Given the description of an element on the screen output the (x, y) to click on. 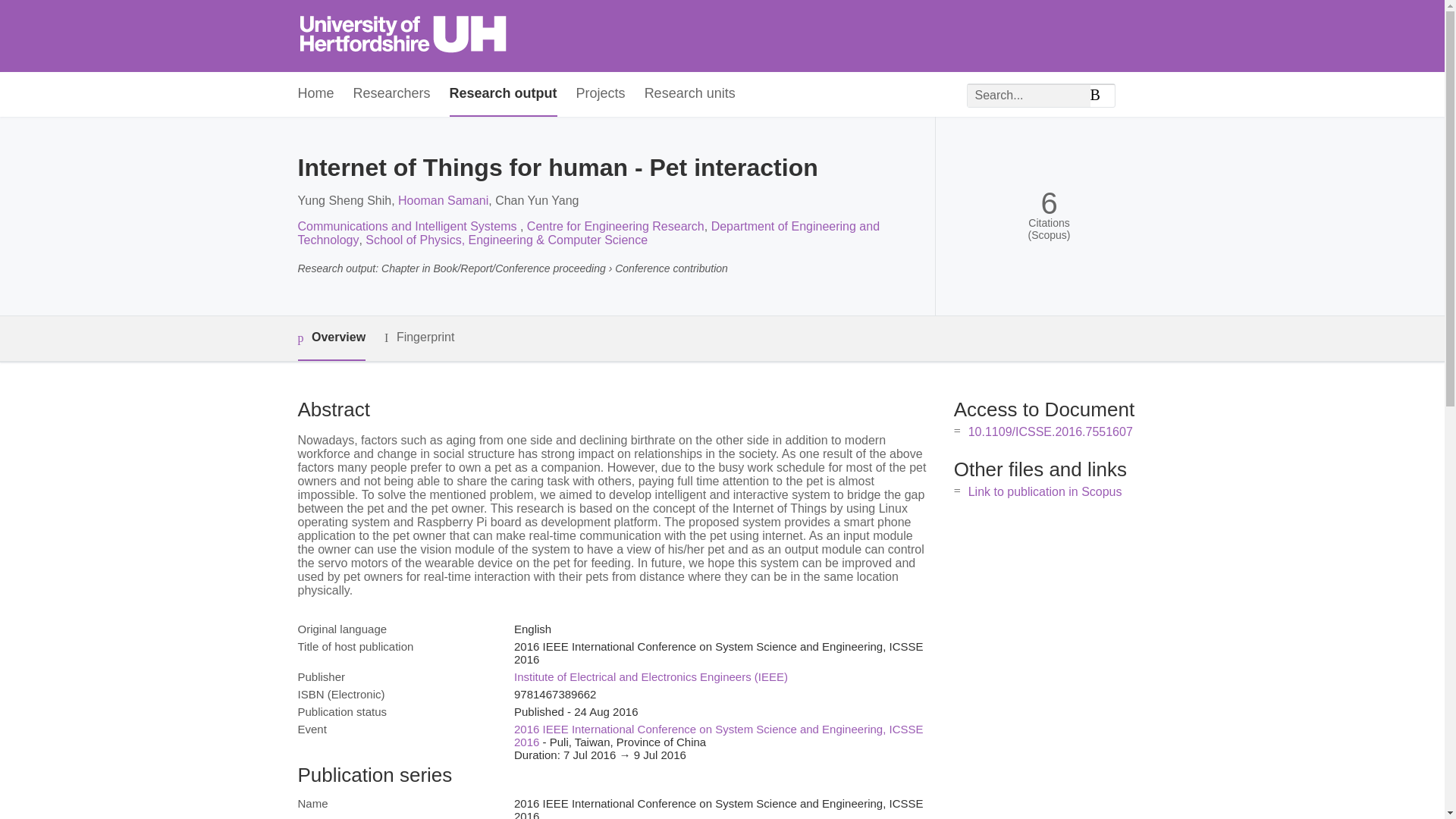
Link to publication in Scopus (1045, 491)
Communications and Intelligent Systems (408, 226)
Research output (503, 94)
Researchers (391, 94)
Department of Engineering and Technology (588, 233)
Overview (331, 338)
Home (315, 94)
Research units (690, 94)
Centre for Engineering Research (615, 226)
Hooman Samani (442, 200)
Fingerprint (419, 337)
Projects (601, 94)
